Given the description of an element on the screen output the (x, y) to click on. 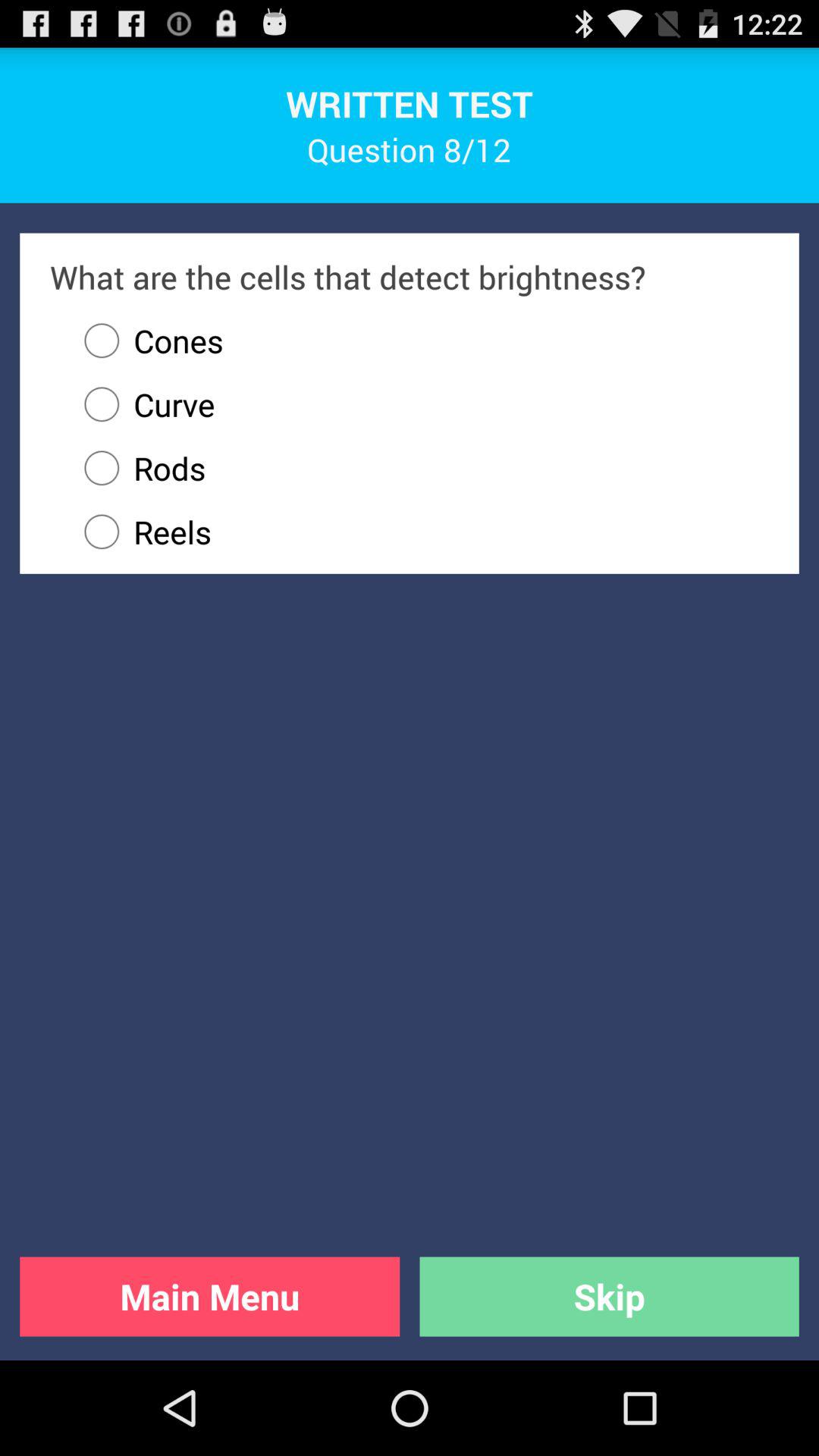
press icon below the cones (141, 404)
